Given the description of an element on the screen output the (x, y) to click on. 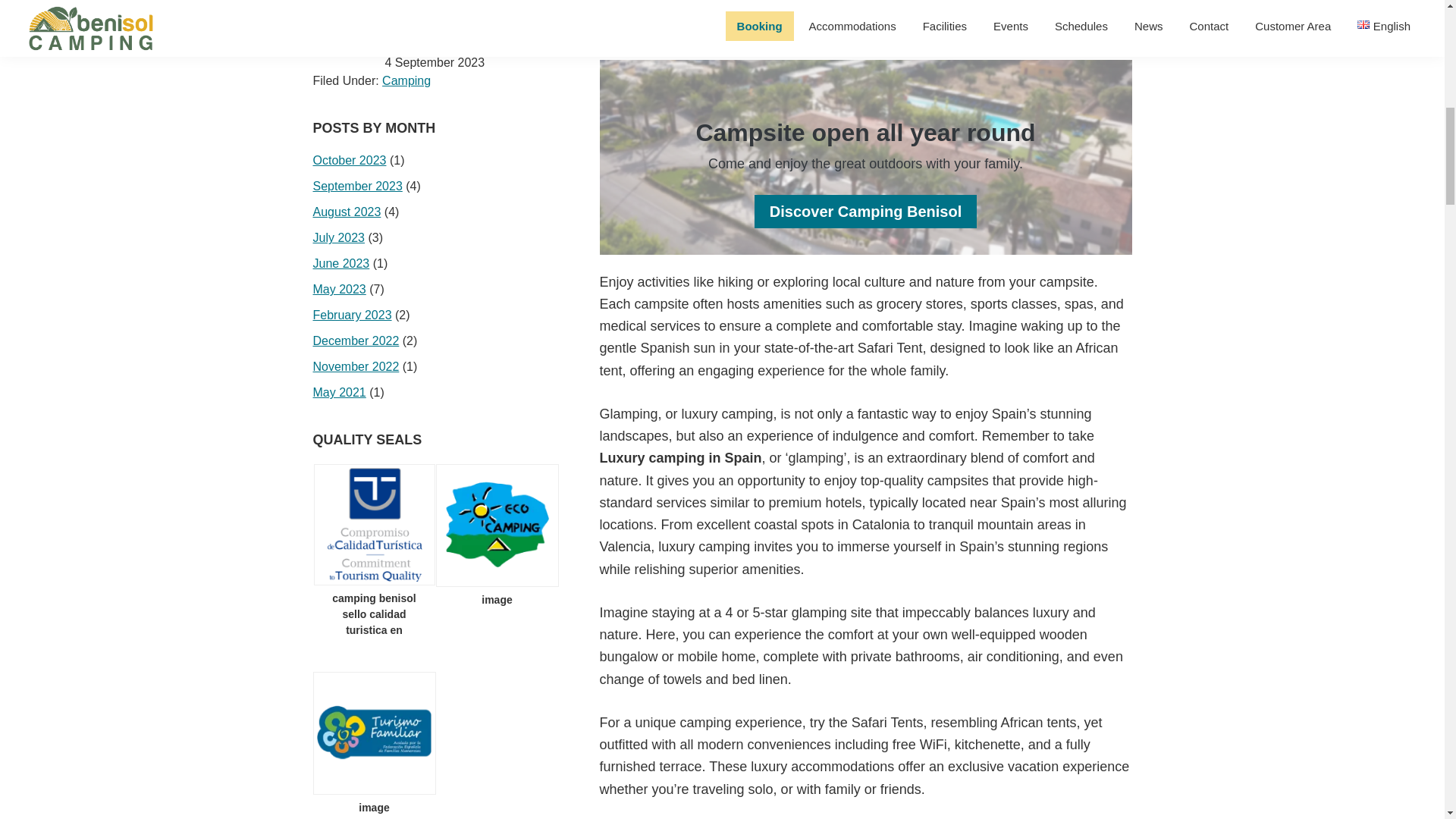
Discover Camping Benisol (865, 211)
